Given the description of an element on the screen output the (x, y) to click on. 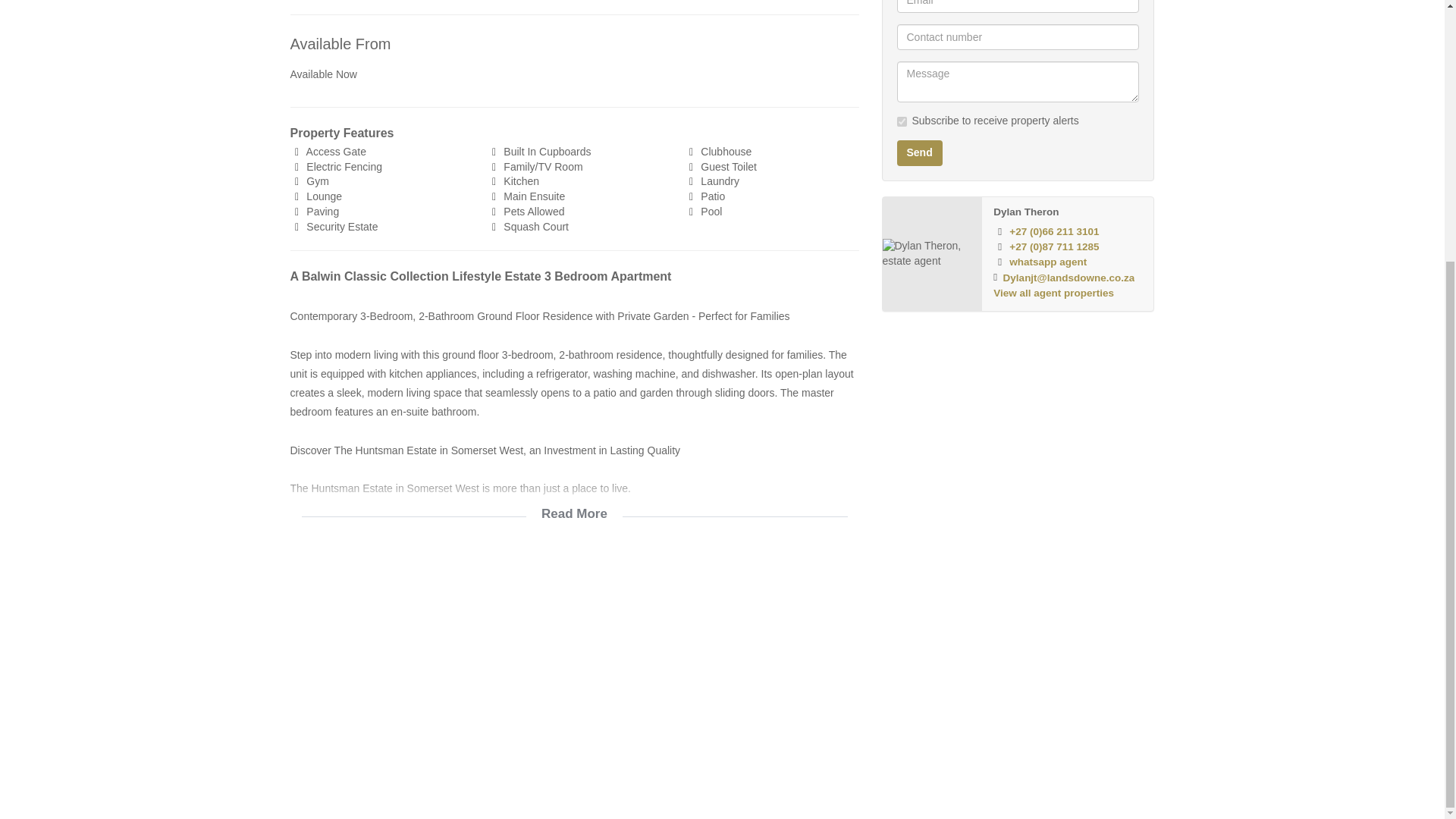
on (900, 121)
google map (574, 667)
Read More (574, 504)
